Given the description of an element on the screen output the (x, y) to click on. 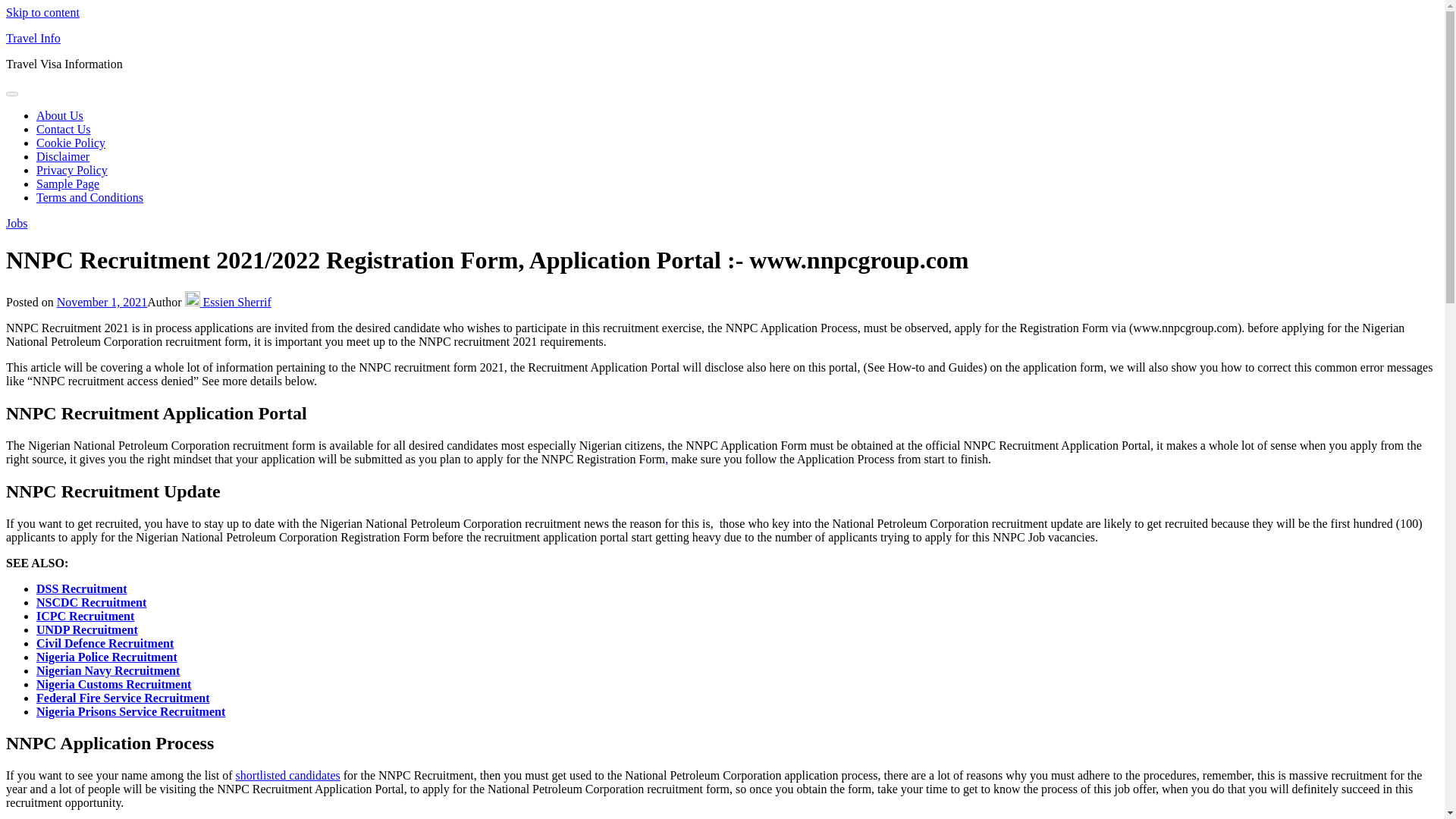
November 1, 2021 (102, 301)
Essien Sherrif (227, 301)
shortlisted candidates (287, 775)
Privacy Policy (71, 169)
NSCDC Recruitment (91, 602)
Skip to content (42, 11)
ICPC Recruitment (84, 615)
Nigerian Navy Recruitment (107, 670)
Disclaimer (62, 155)
Nigeria Police Recruitment (106, 656)
Nigeria Prisons Service Recruitment (130, 711)
Federal Fire Service Recruitment (122, 697)
Jobs (16, 223)
UNDP Recruitment (87, 629)
Terms and Conditions (89, 196)
